Given the description of an element on the screen output the (x, y) to click on. 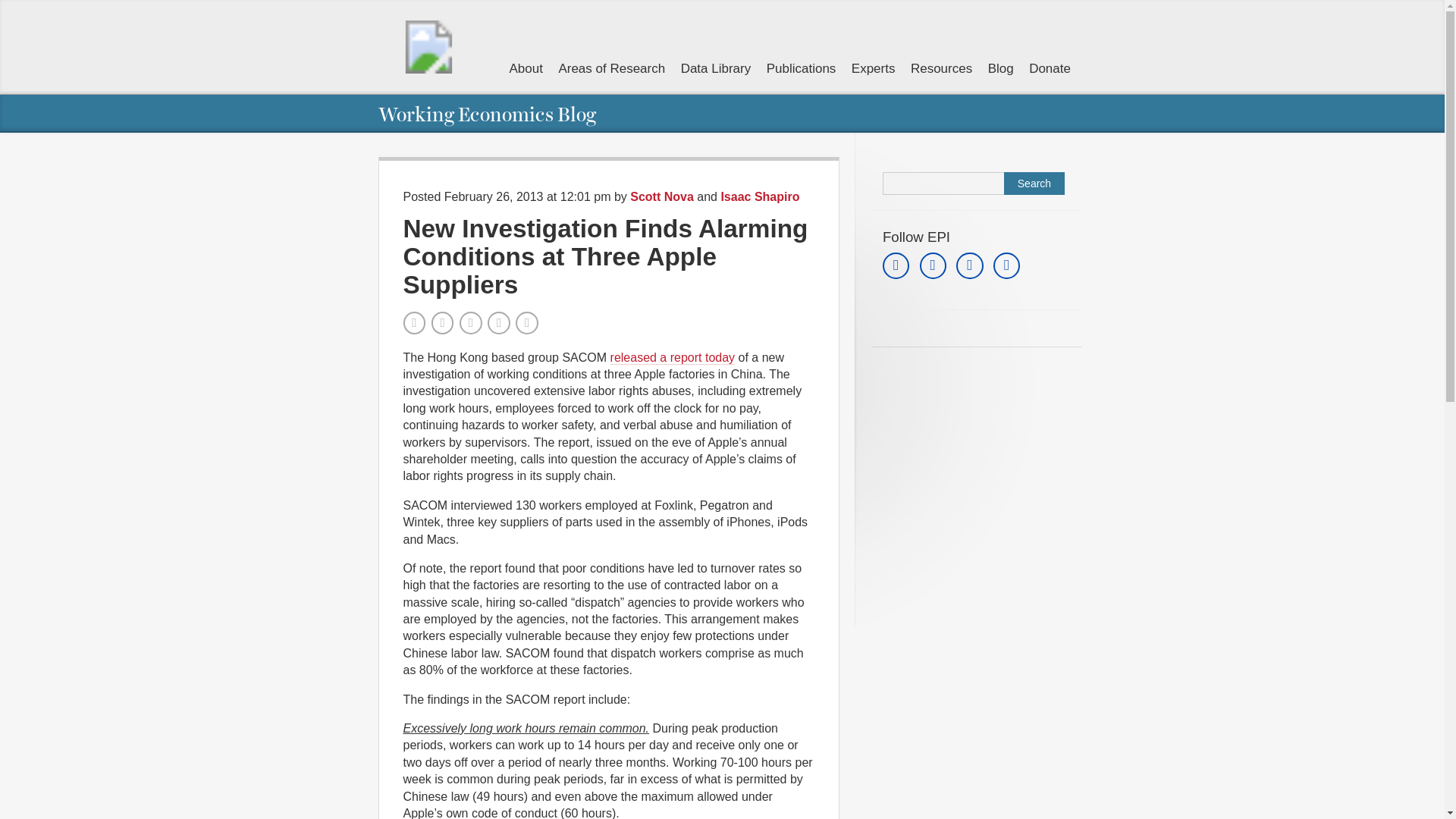
About (526, 68)
Data Library (716, 68)
Search (1034, 182)
Resources (941, 68)
Experts (873, 68)
Areas of Research (611, 68)
Publications (801, 68)
